Given the description of an element on the screen output the (x, y) to click on. 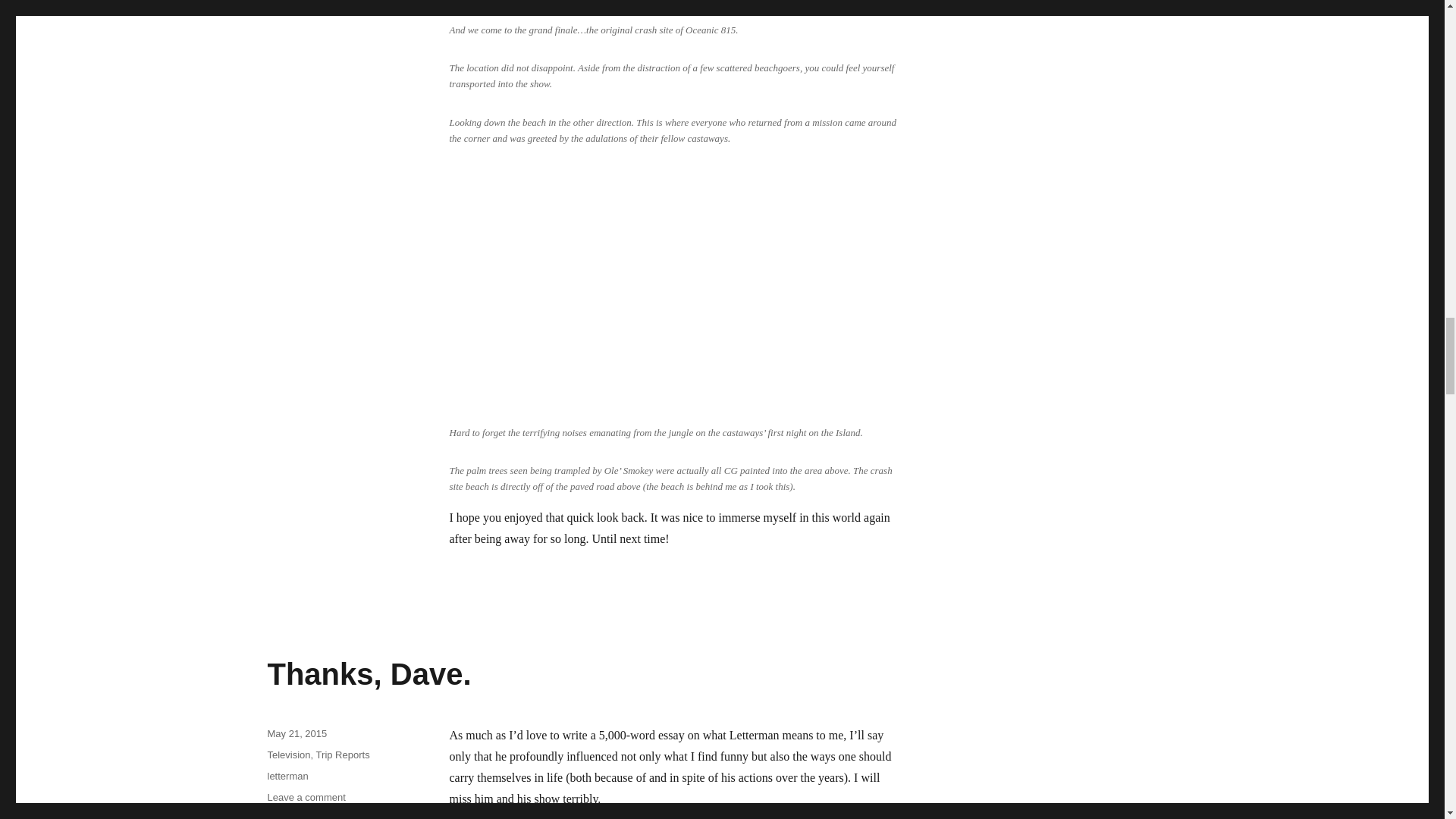
LOST S01E01- The Smoke Monsters first scene (676, 286)
